Given the description of an element on the screen output the (x, y) to click on. 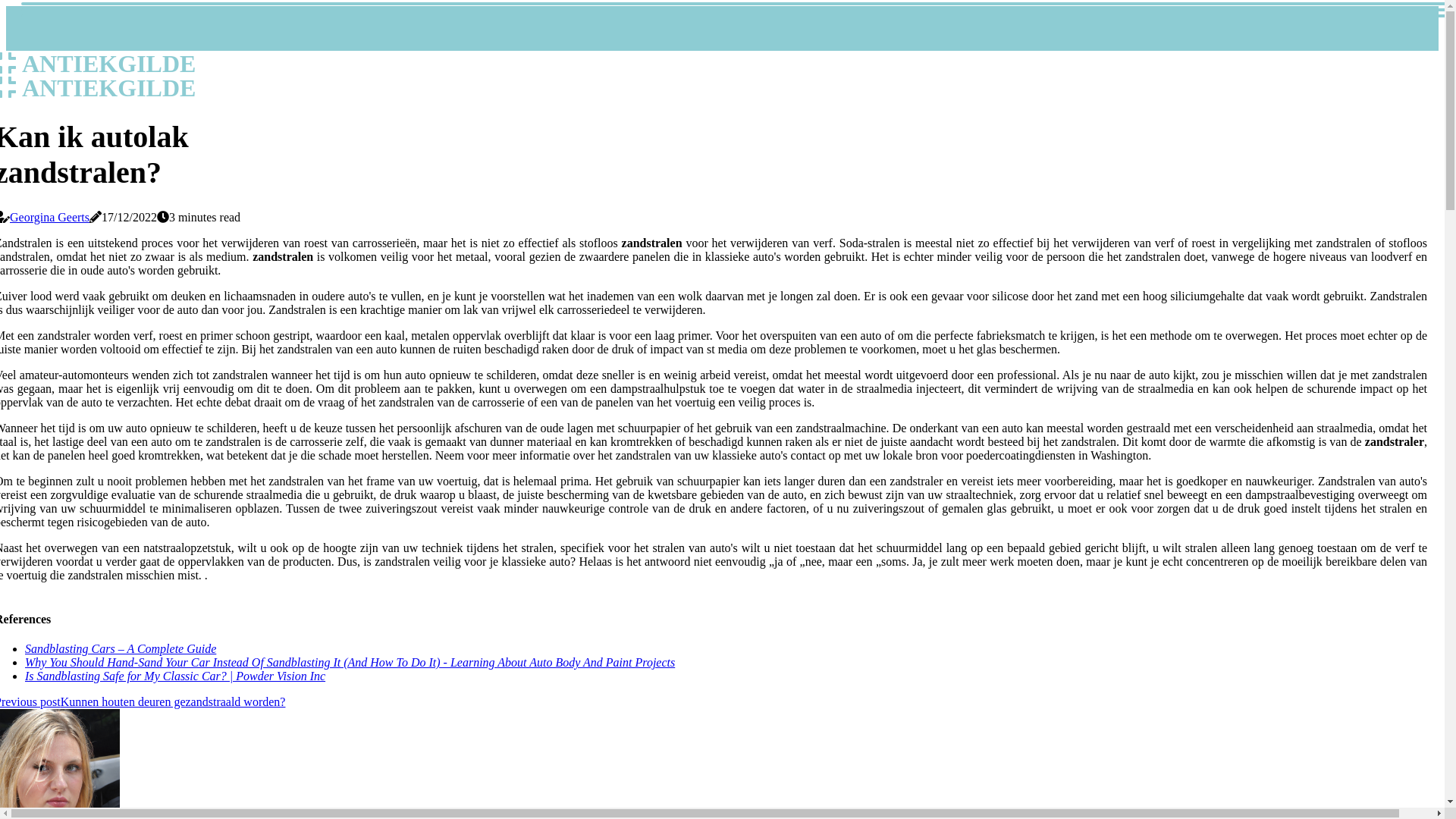
Is Sandblasting Safe for My Classic Car? | Powder Vision Inc Element type: text (175, 675)
Georgina Geerts Element type: text (49, 216)
